Given the description of an element on the screen output the (x, y) to click on. 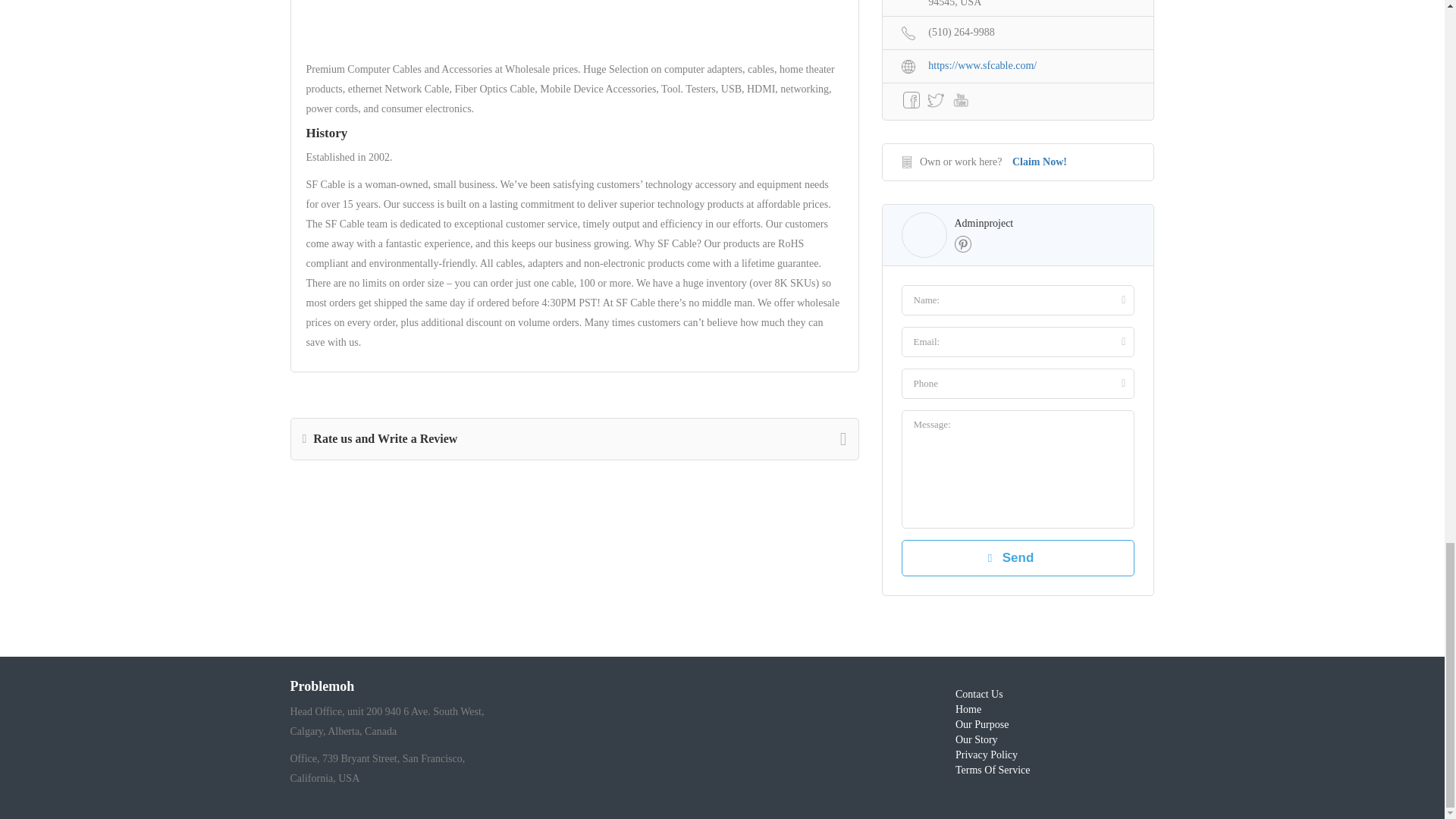
28300 Industrial Blvd, Hayward, CA 94545, USA (1018, 5)
Send (1017, 557)
